Given the description of an element on the screen output the (x, y) to click on. 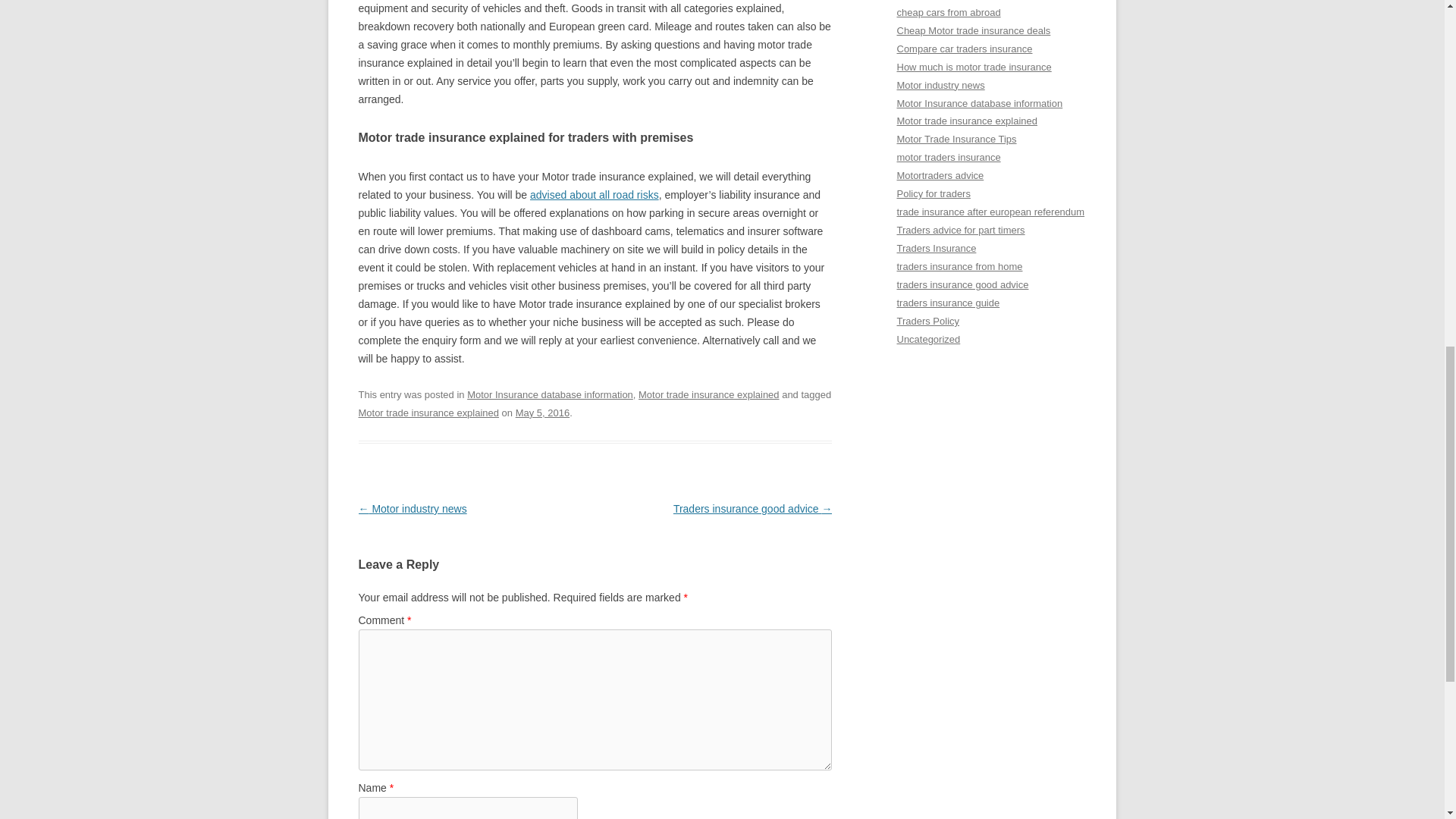
13:54 (542, 412)
Motor trade insurance explained (428, 412)
Motor trade insurance explained (708, 394)
May 5, 2016 (542, 412)
Motor Insurance database information (550, 394)
advised about all road risks (594, 194)
